Given the description of an element on the screen output the (x, y) to click on. 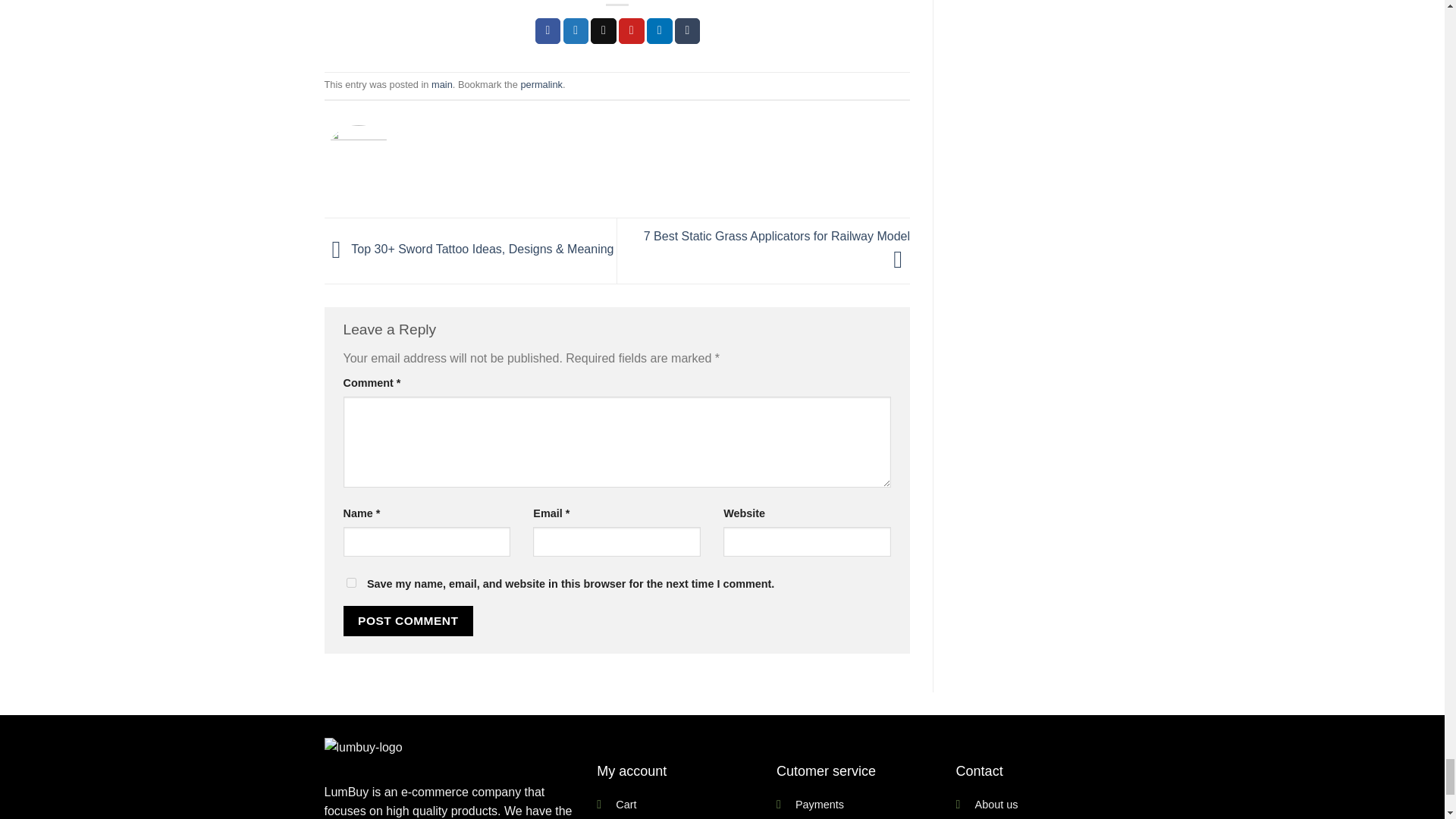
Share on Tumblr (687, 31)
yes (350, 583)
Share on Facebook (547, 31)
Share on LinkedIn (659, 31)
Pin on Pinterest (631, 31)
Post Comment (407, 620)
Email to a Friend (603, 31)
Share on Twitter (576, 31)
